Given the description of an element on the screen output the (x, y) to click on. 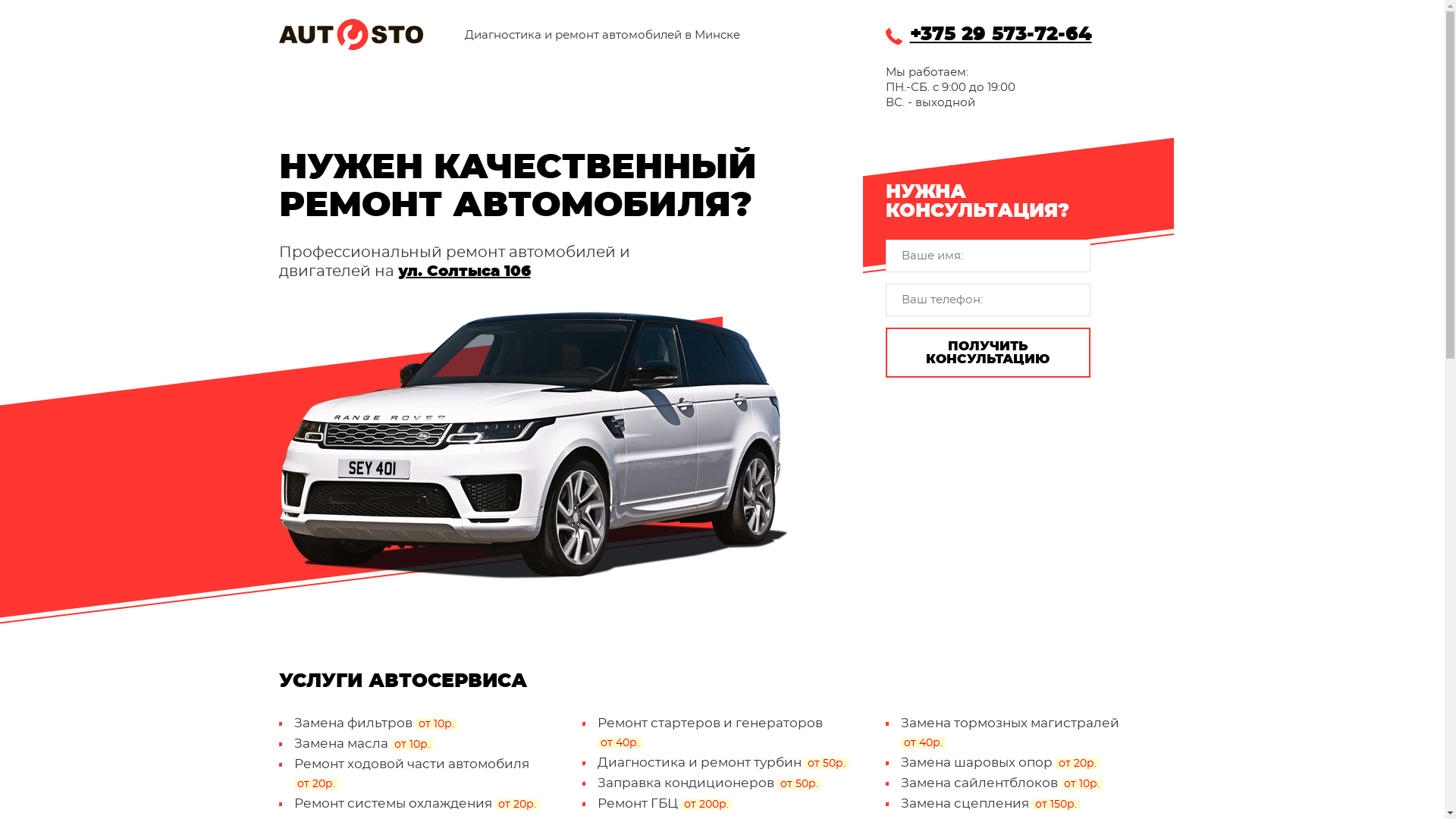
+375 29 573-72-64 Element type: text (1025, 35)
